Given the description of an element on the screen output the (x, y) to click on. 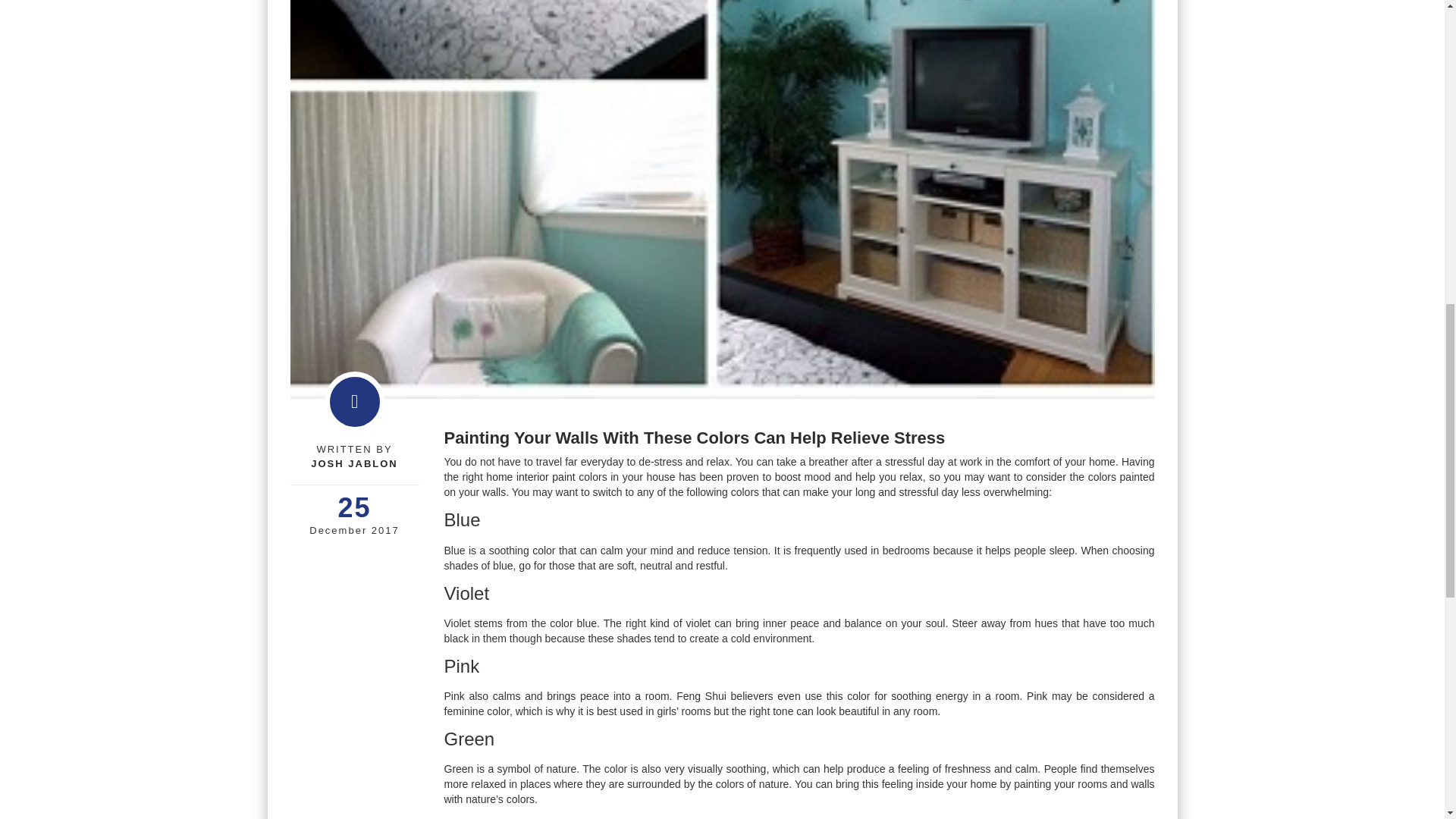
color (543, 550)
home interior paint (530, 476)
